Given the description of an element on the screen output the (x, y) to click on. 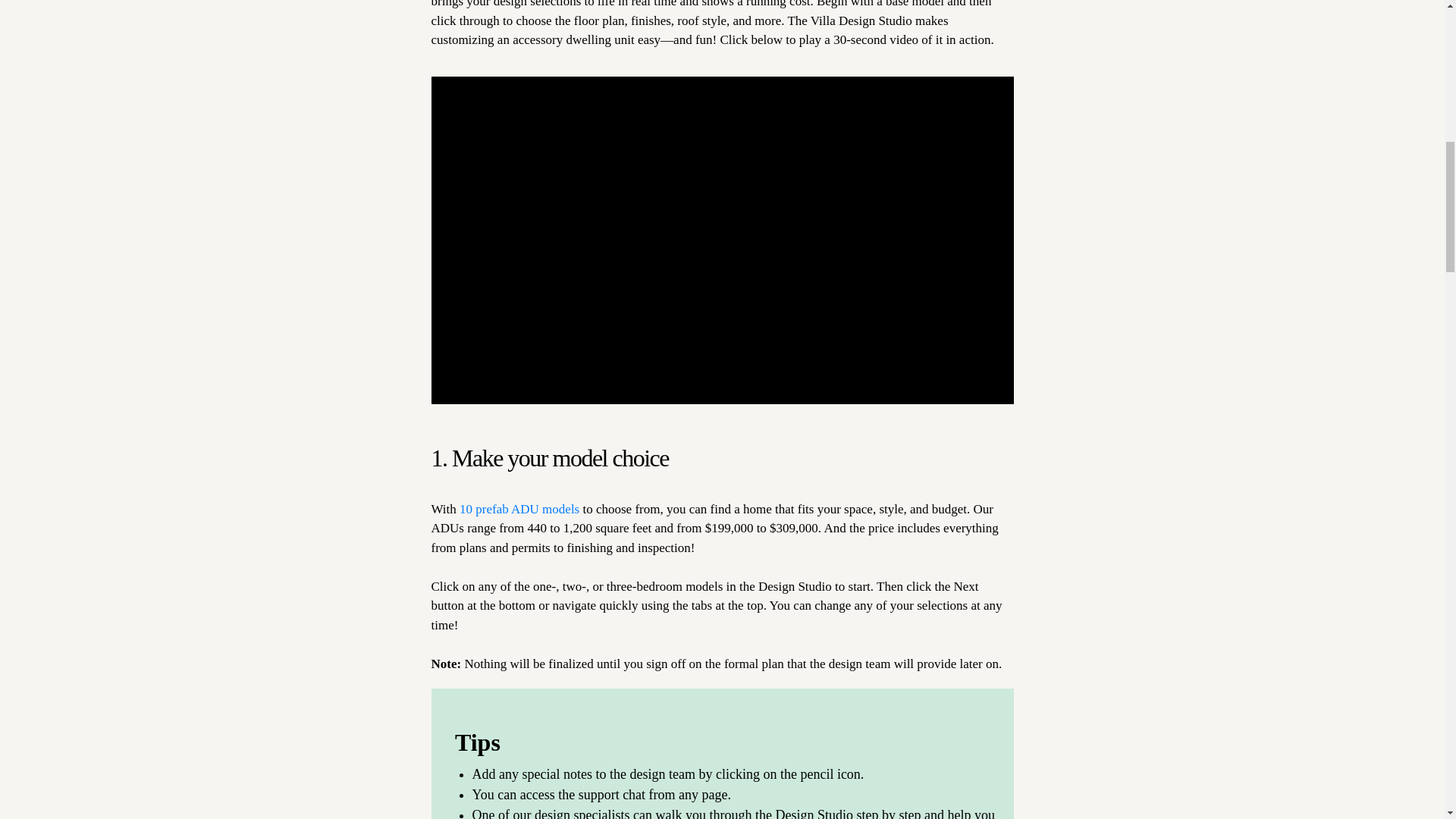
10 prefab ADU models (519, 509)
